Given the description of an element on the screen output the (x, y) to click on. 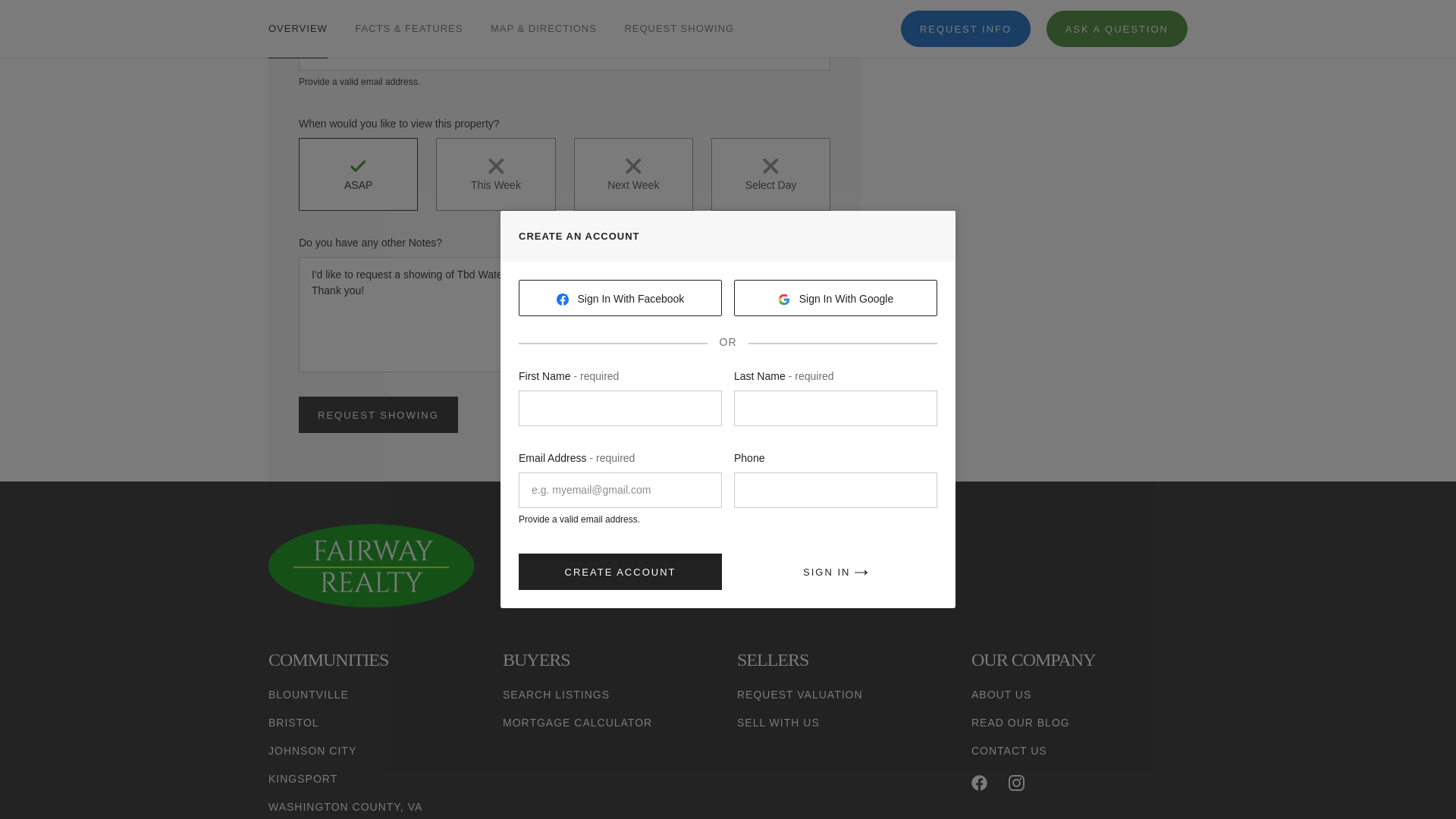
FACEBOOK (979, 782)
